Given the description of an element on the screen output the (x, y) to click on. 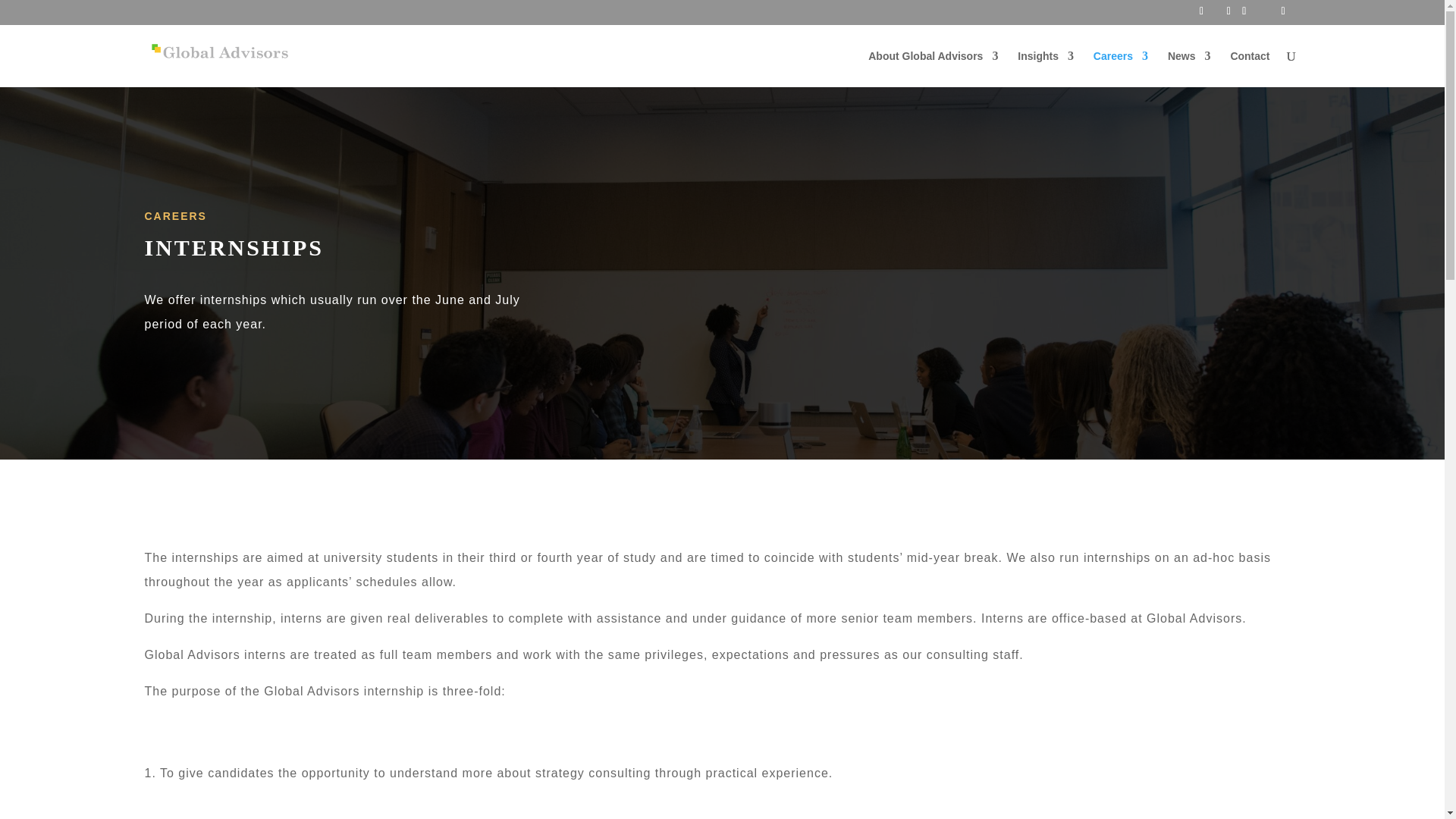
About Global Advisors (932, 68)
Insights (1045, 68)
